Given the description of an element on the screen output the (x, y) to click on. 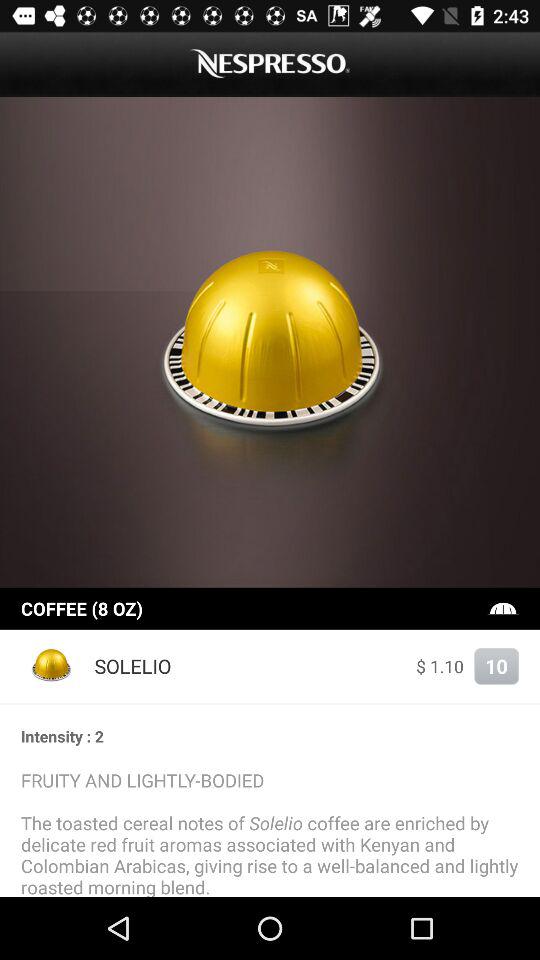
turn off icon above 10 (503, 608)
